Given the description of an element on the screen output the (x, y) to click on. 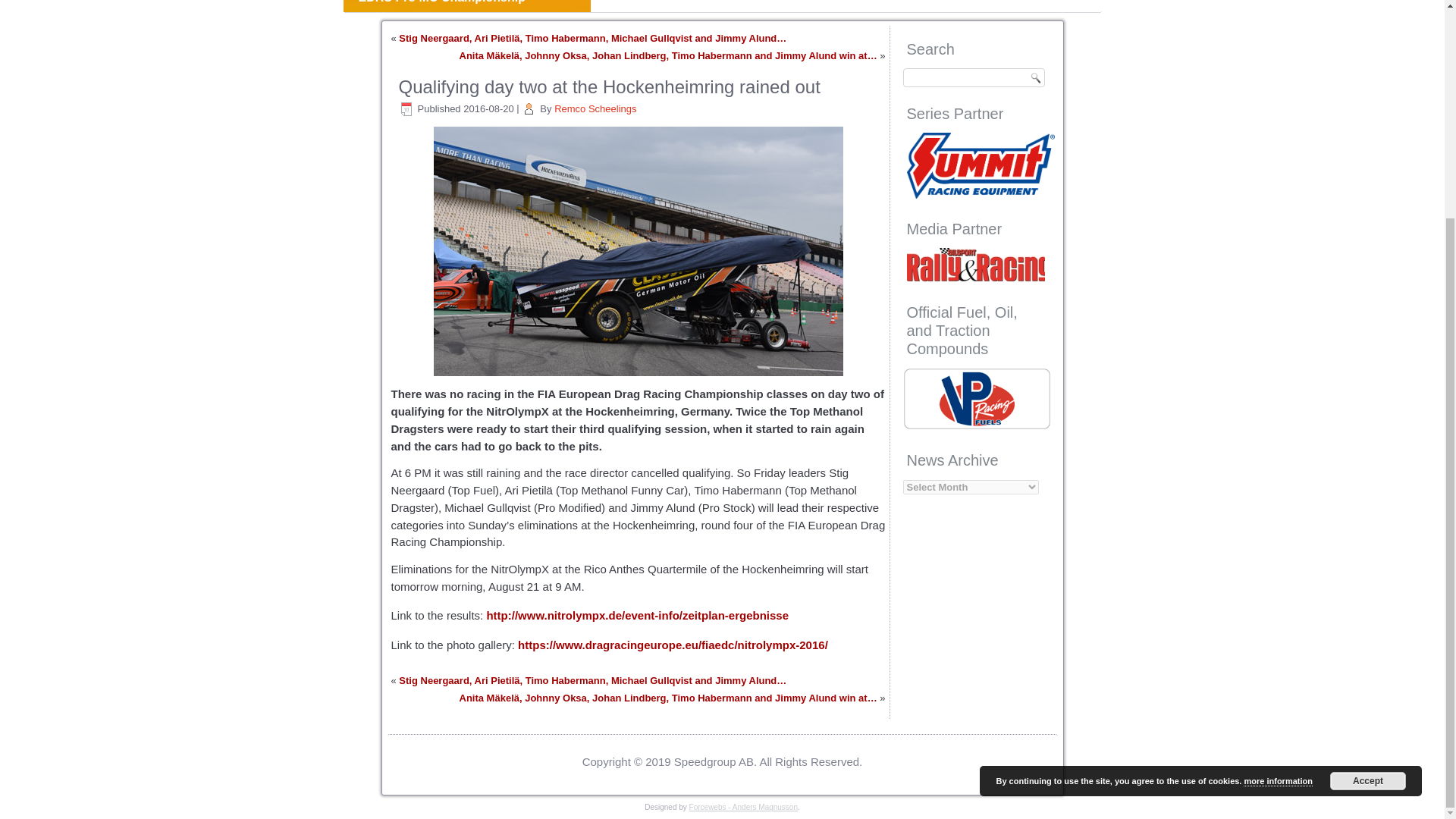
more information (1277, 493)
17:33 (488, 108)
Remco Scheelings (595, 108)
Accept (1368, 493)
View all posts by Remco Scheelings (595, 108)
Forcewebs - Anders Magnusson (742, 807)
EDRS Pro MC Championship (466, 6)
